Given the description of an element on the screen output the (x, y) to click on. 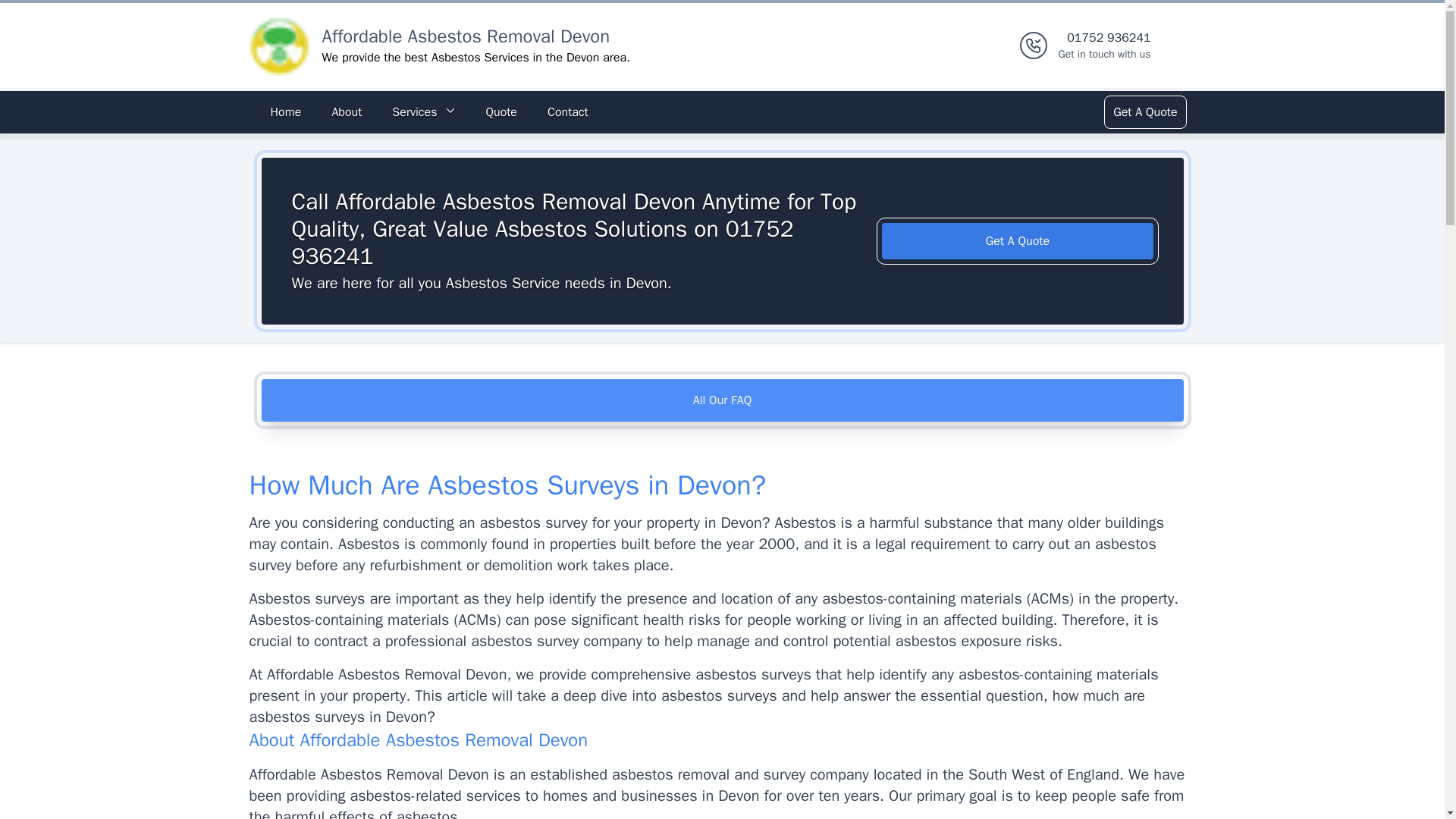
Contact (567, 112)
Affordable Asbestos Removal Devon (465, 36)
Services (423, 112)
All Our FAQ (721, 400)
Get A Quote (1104, 45)
Home (1144, 112)
About (285, 112)
Get A Quote (346, 112)
Quote (1017, 240)
Logo (500, 112)
